Given the description of an element on the screen output the (x, y) to click on. 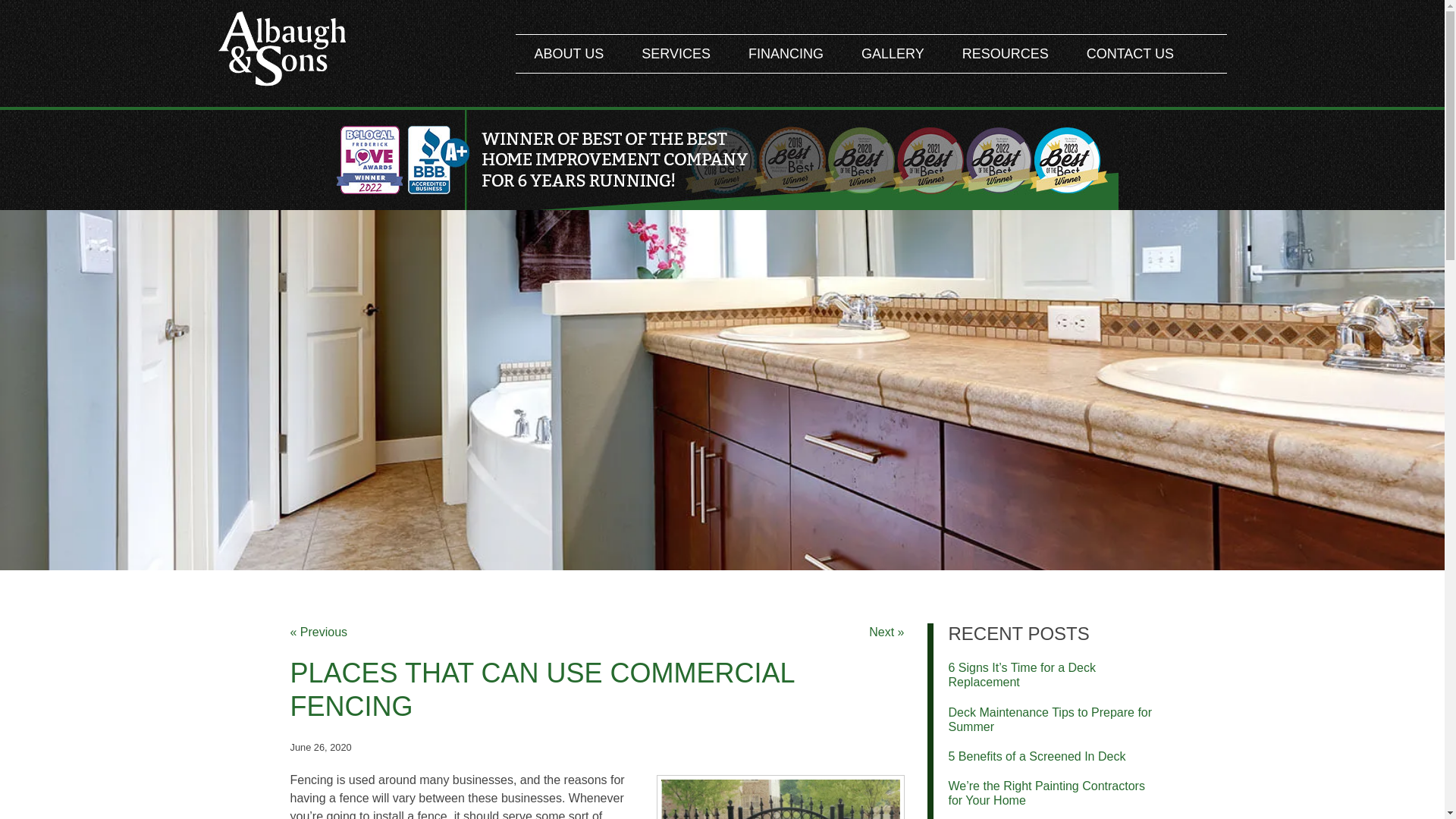
SERVICES (676, 53)
ABOUT US (569, 53)
